Given the description of an element on the screen output the (x, y) to click on. 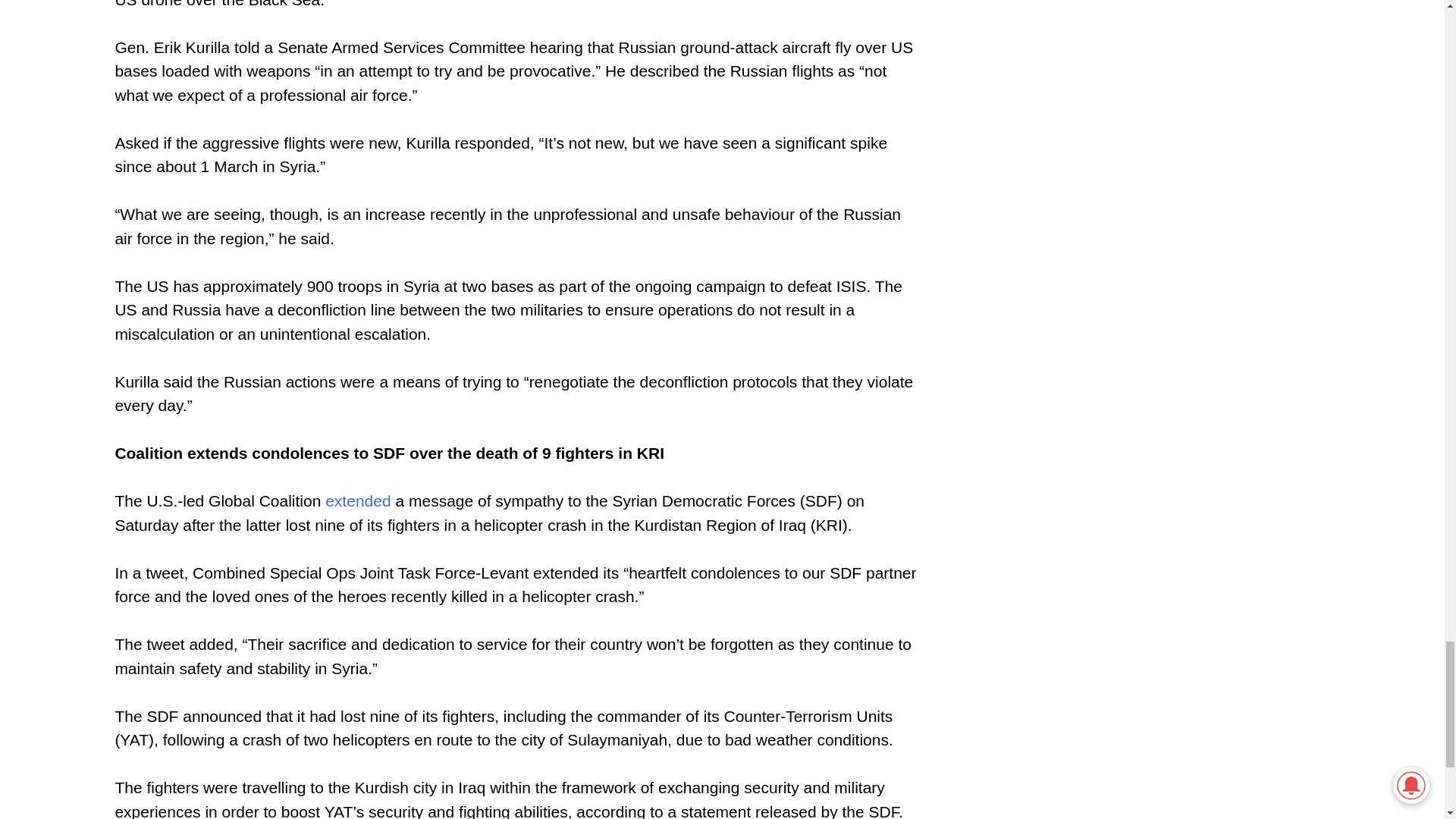
extended (357, 500)
